Given the description of an element on the screen output the (x, y) to click on. 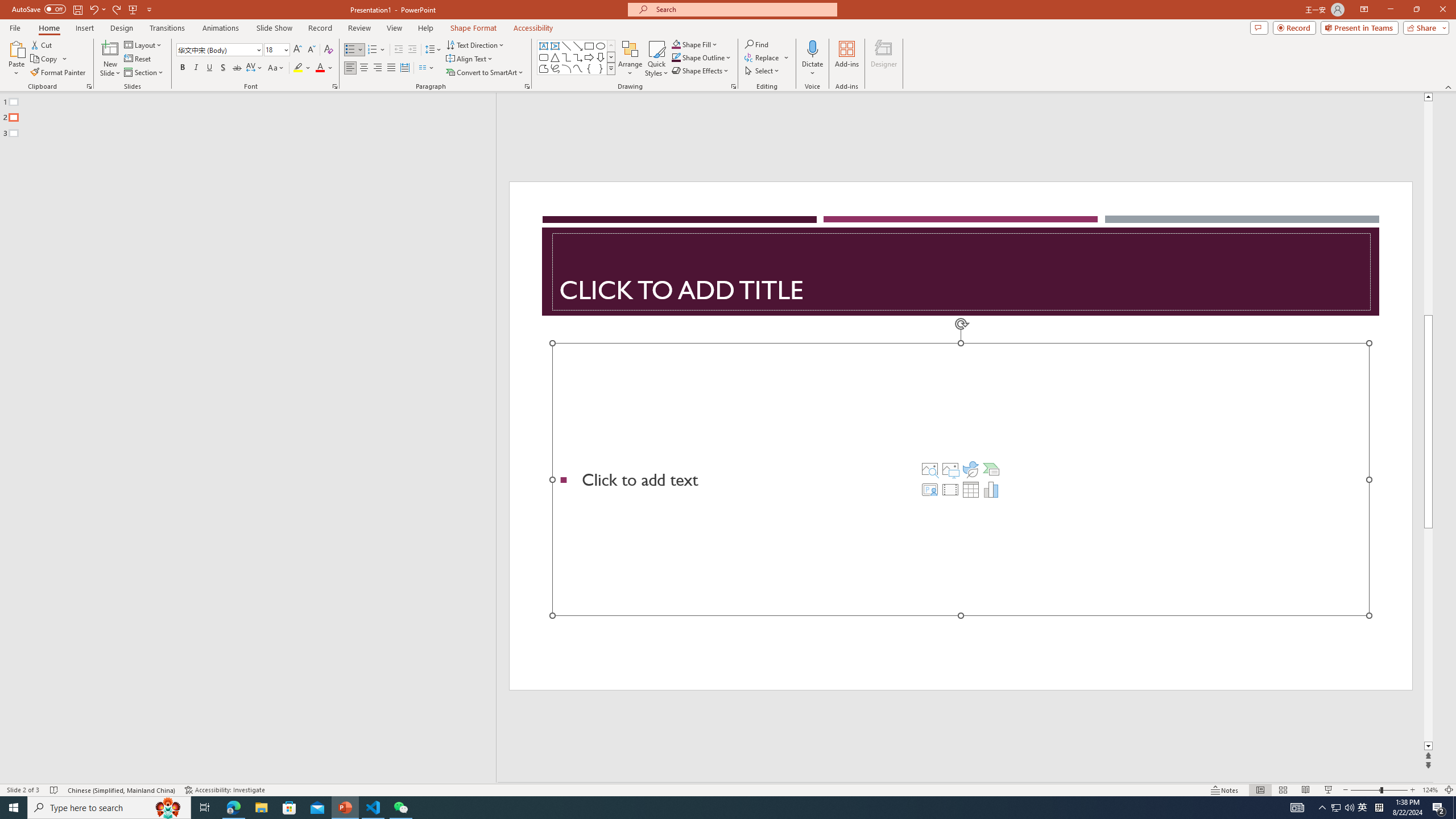
Zoom 124% (1430, 790)
